Given the description of an element on the screen output the (x, y) to click on. 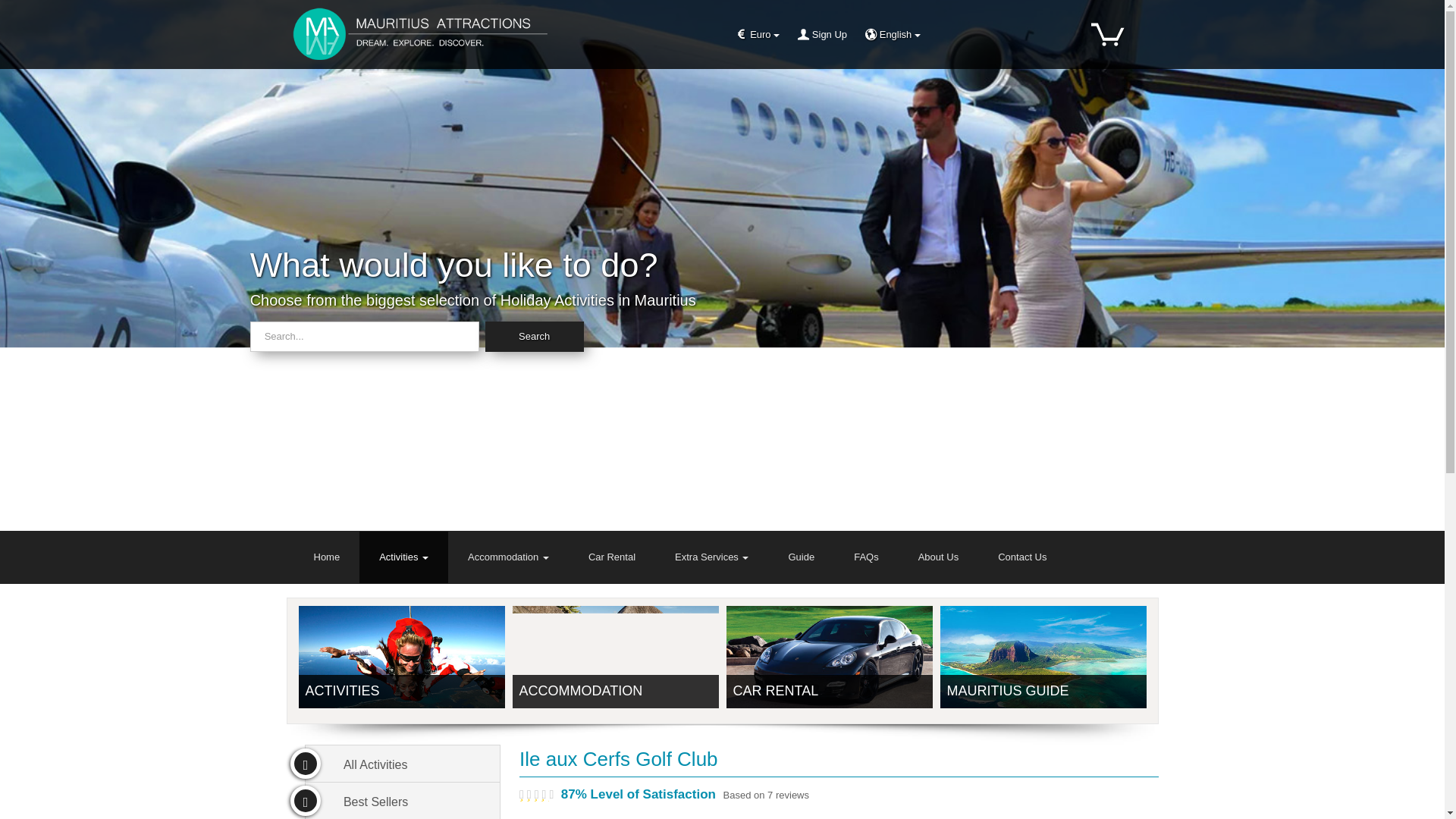
Euro (757, 34)
Sign Up (821, 34)
English (893, 34)
Shopping Cart (1107, 33)
